Given the description of an element on the screen output the (x, y) to click on. 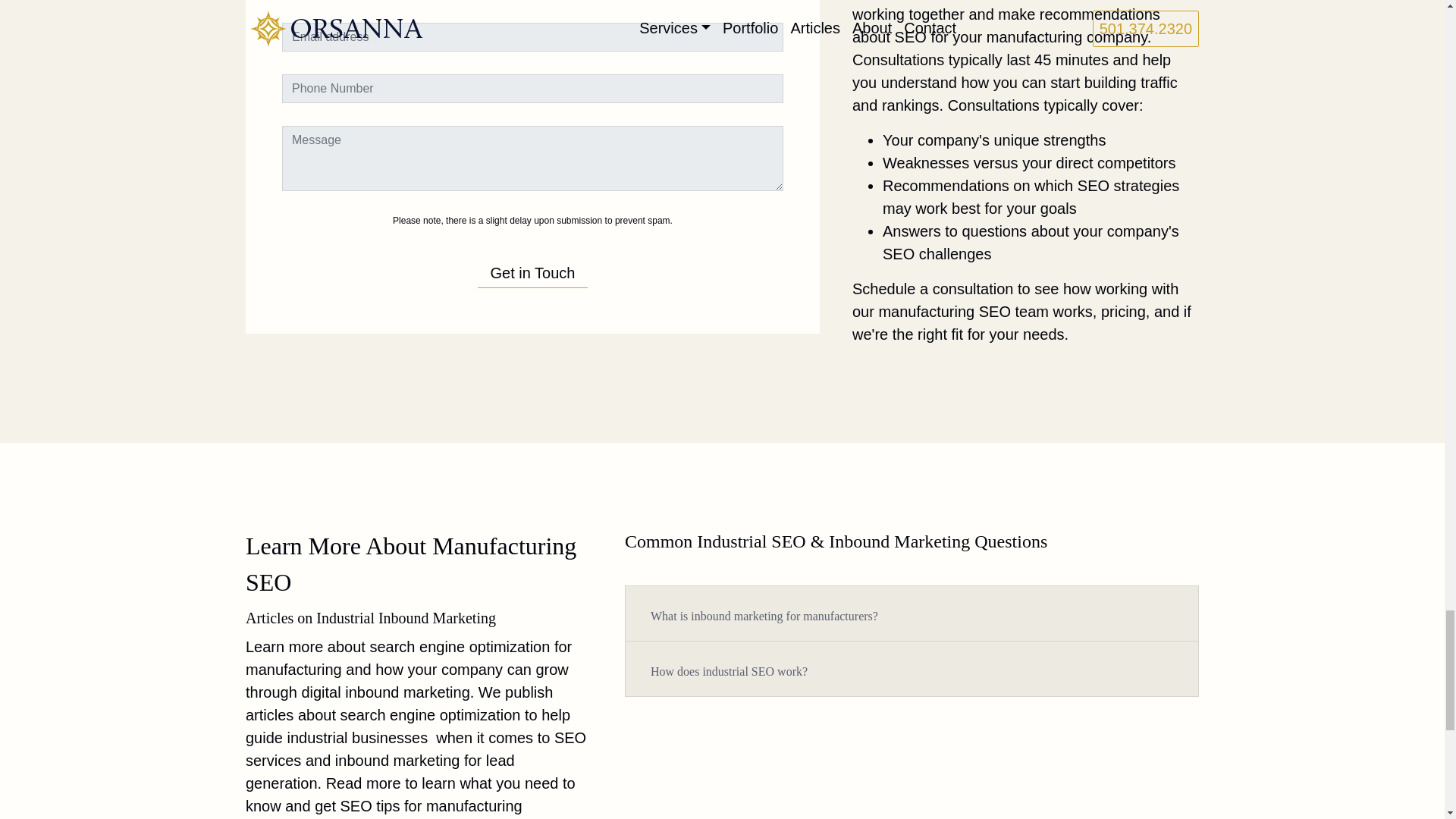
What is inbound marketing for manufacturers? (764, 615)
How does industrial SEO work? (728, 671)
Get in Touch (533, 262)
